Given the description of an element on the screen output the (x, y) to click on. 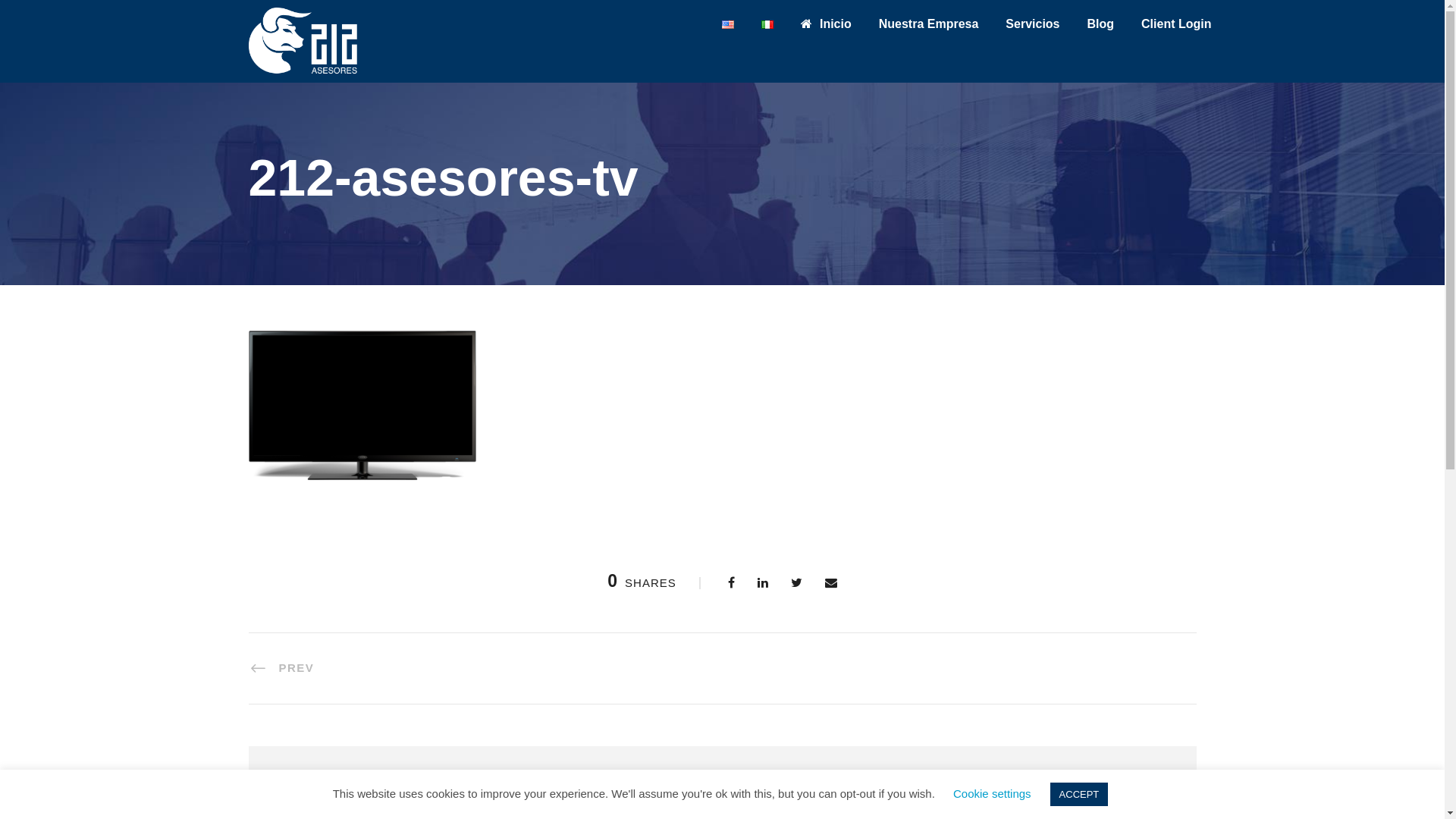
info@212asesores.com Element type: text (734, 717)
+58-212-5145633 Element type: text (732, 739)
PREV Element type: text (281, 668)
Cookie settings Element type: text (992, 793)
ACCEPT Element type: text (1079, 794)
Nuestra Empresa Element type: text (928, 31)
212 Logo_white Element type: hover (303, 42)
Blog Element type: text (1100, 31)
Client Login Element type: text (1176, 31)
Inicio Element type: text (825, 31)
Servicios Element type: text (1032, 31)
